Given the description of an element on the screen output the (x, y) to click on. 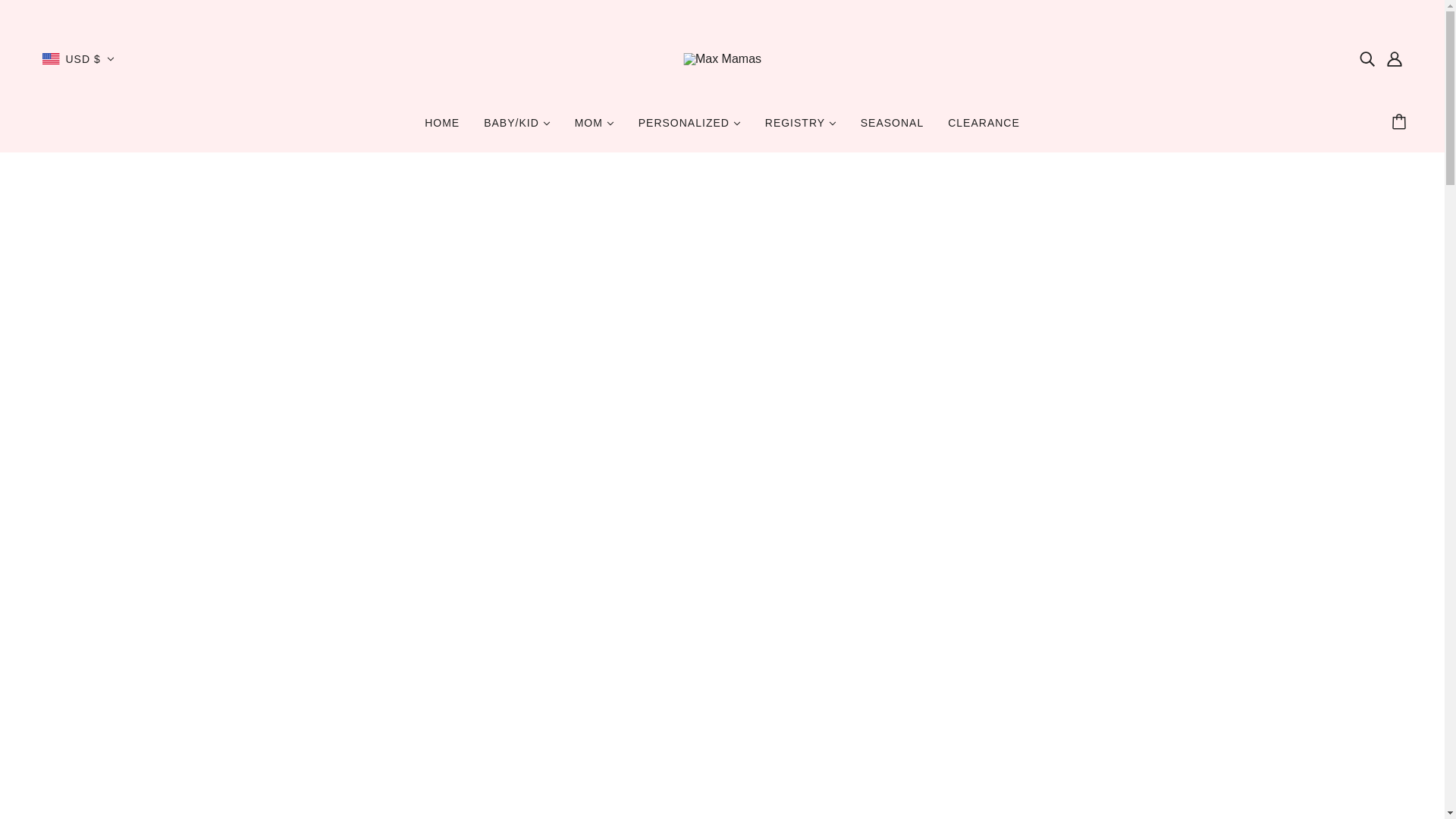
Max Mamas (721, 57)
